Given the description of an element on the screen output the (x, y) to click on. 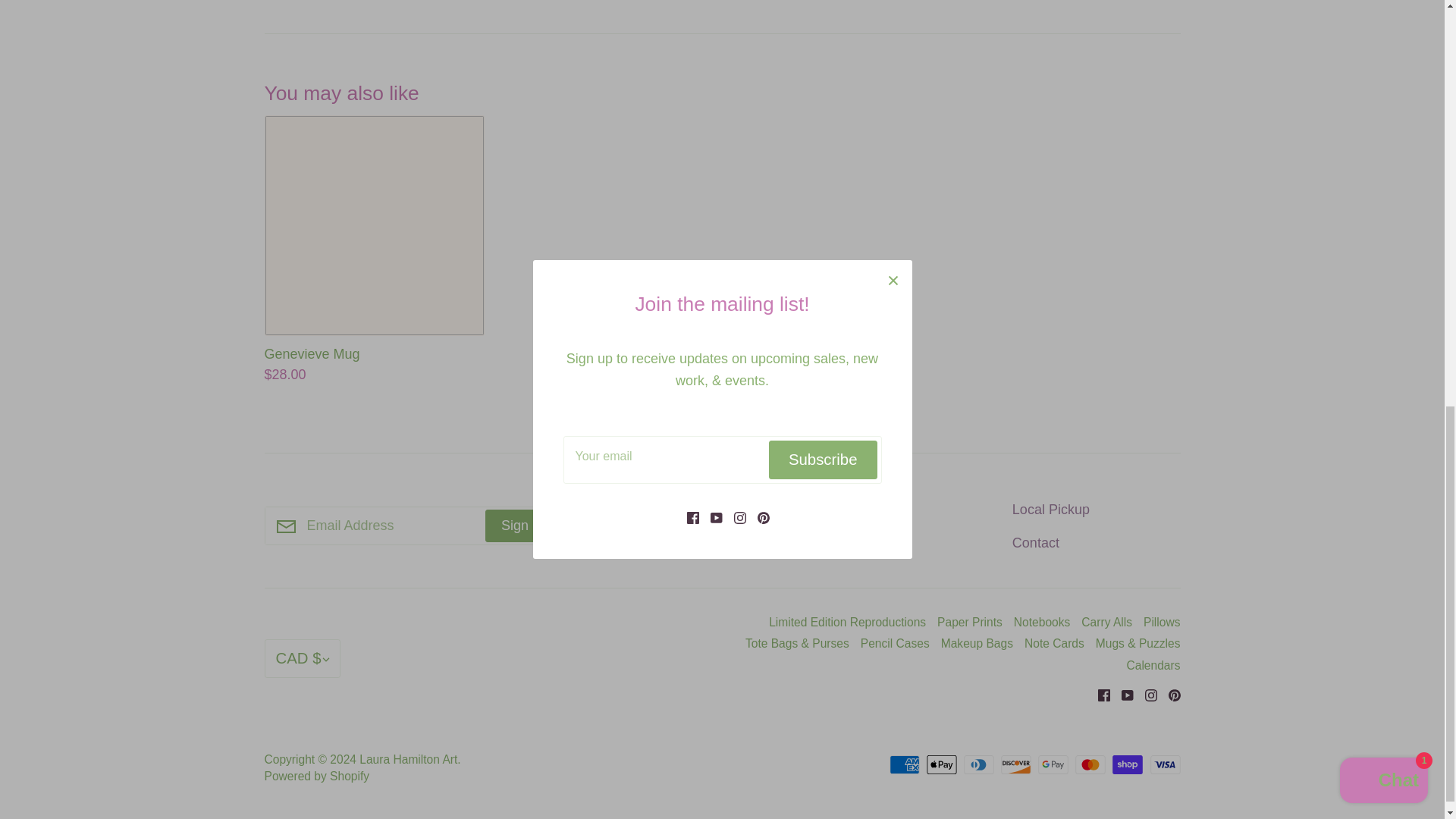
Google Pay (1053, 764)
American Express (904, 764)
Diners Club (978, 764)
Mastercard (1090, 764)
Apple Pay (941, 764)
Discover (1015, 764)
